Given the description of an element on the screen output the (x, y) to click on. 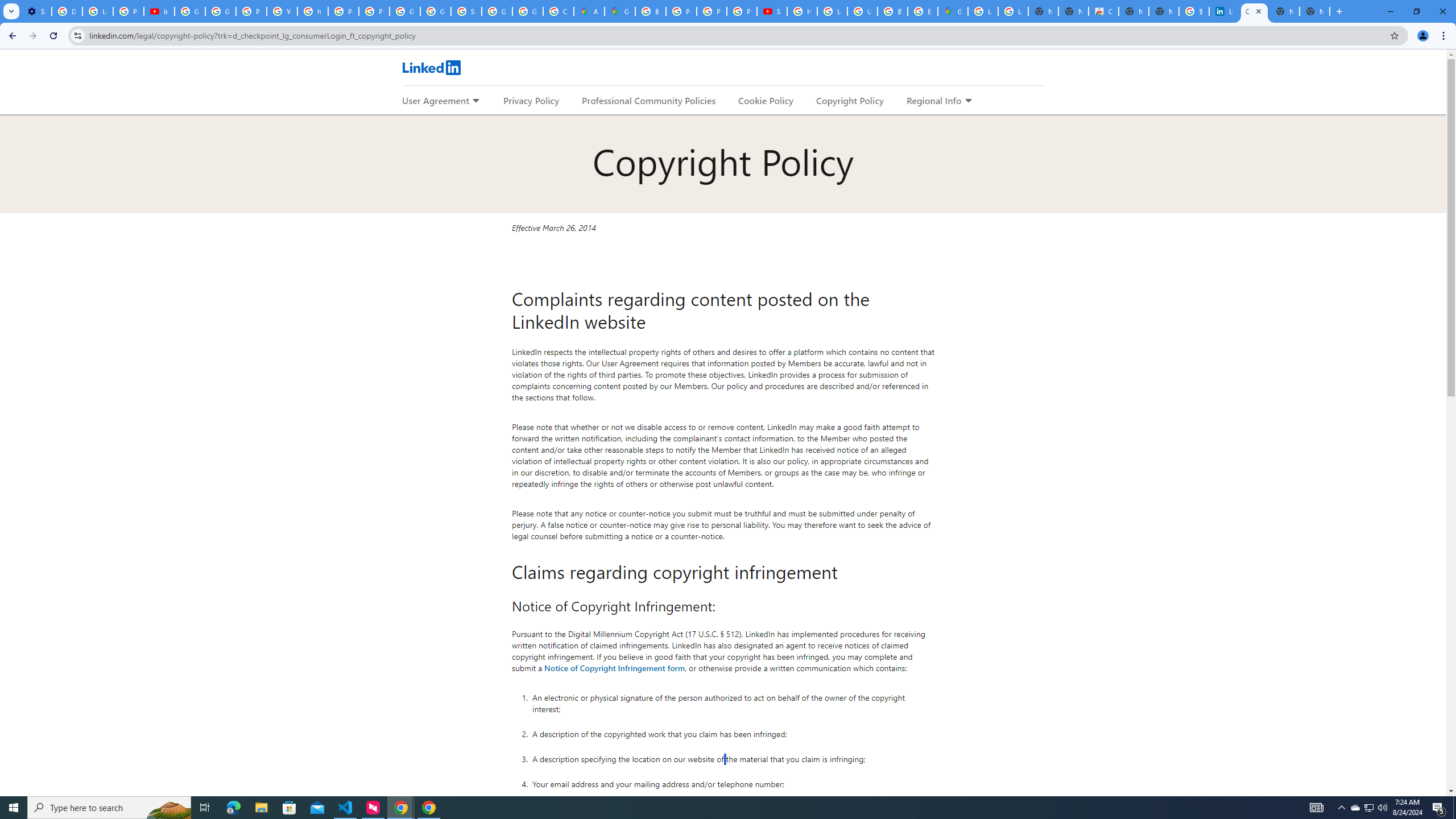
Expand to show more links for User Agreement (475, 101)
https://scholar.google.com/ (312, 11)
Privacy Help Center - Policies Help (251, 11)
Regional Info (933, 100)
Google Maps (952, 11)
